Given the description of an element on the screen output the (x, y) to click on. 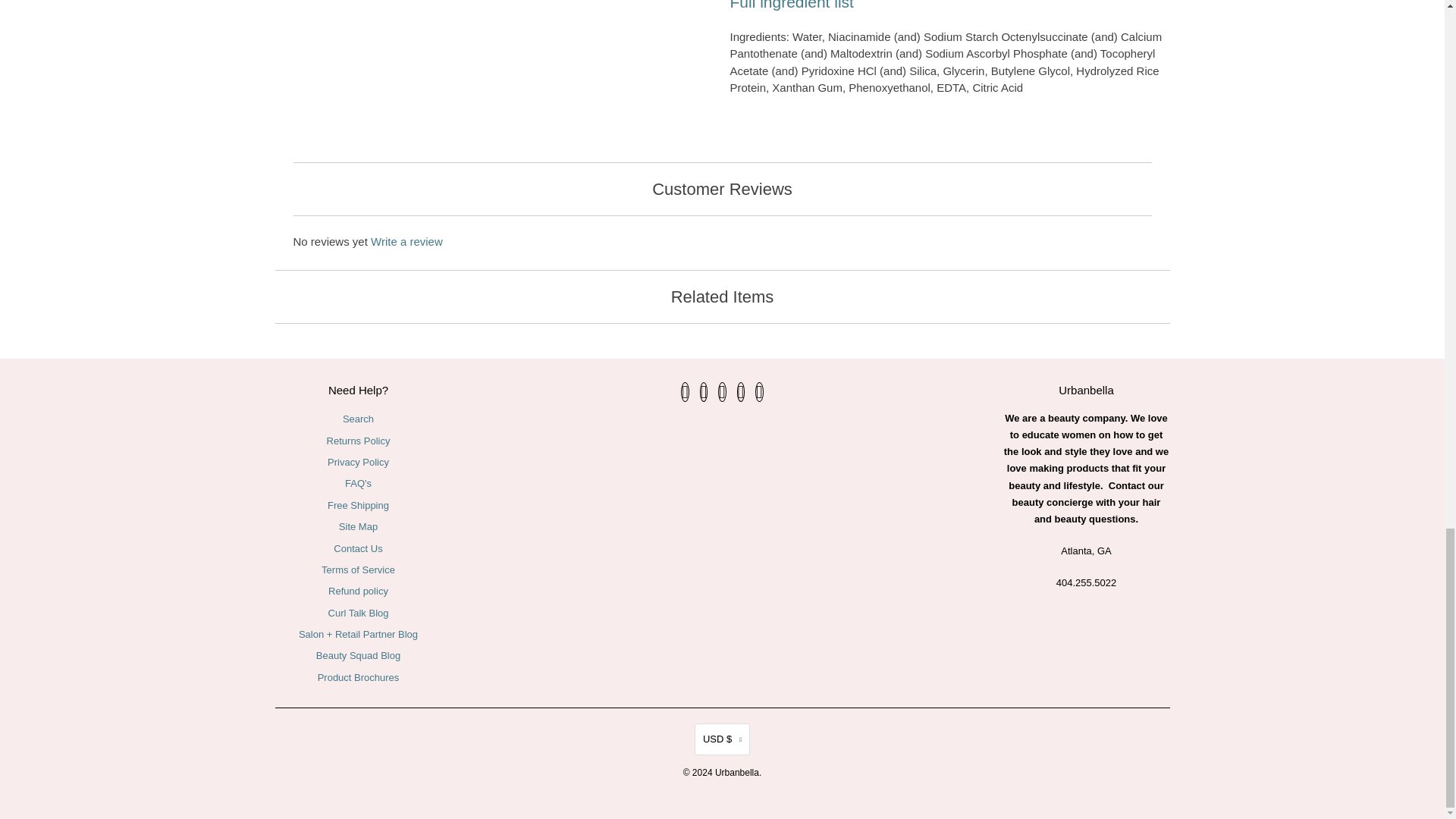
Email Urbanbella (758, 392)
Urbanbella on Facebook (703, 392)
Urbanbella on Instagram (740, 392)
Urbanbella on YouTube (721, 392)
Urbanbella on Twitter (684, 392)
